Given the description of an element on the screen output the (x, y) to click on. 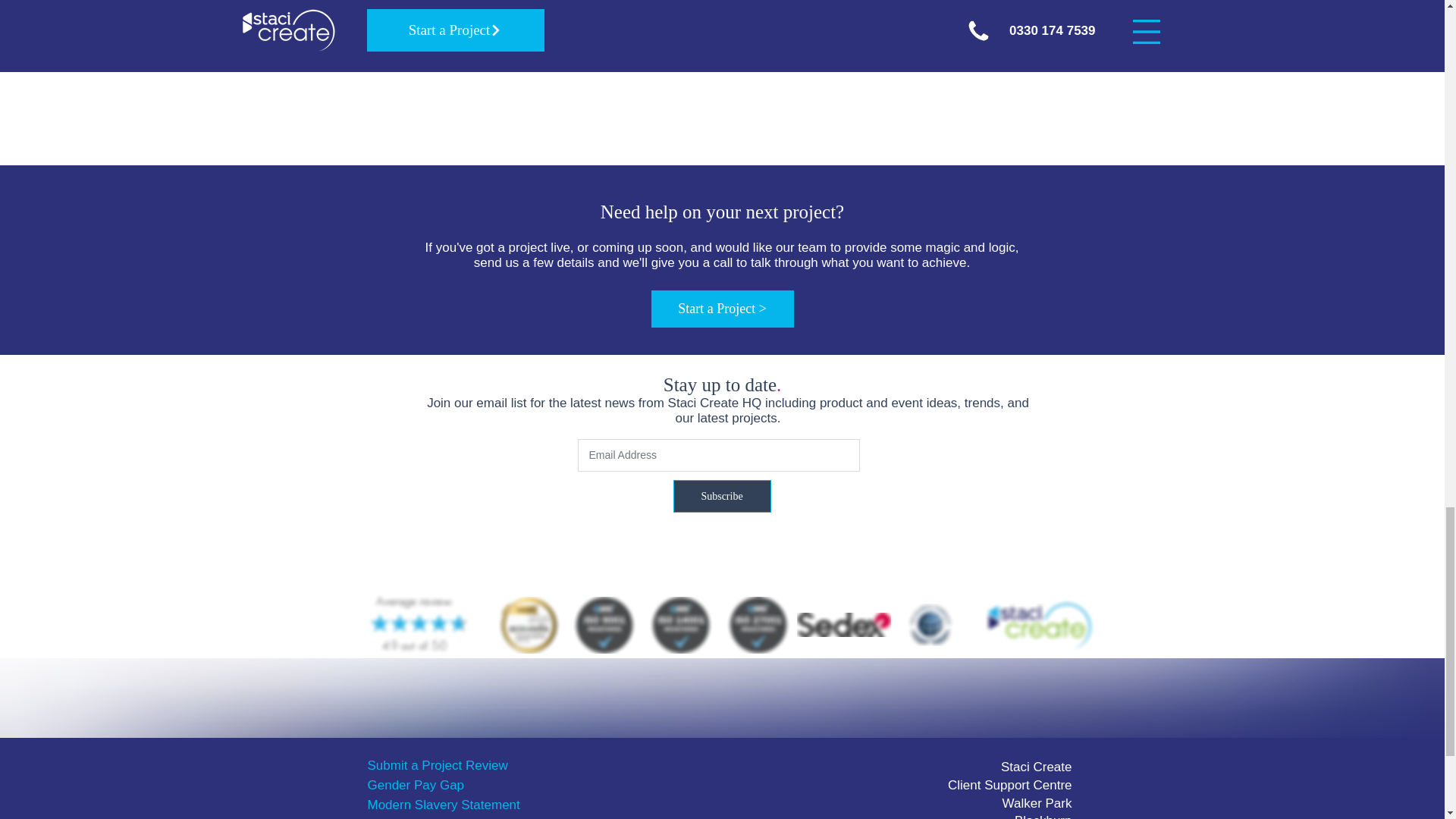
View Project (976, 20)
View Project (467, 20)
Subscribe (721, 495)
View Project (722, 20)
Gender Pay Gap (415, 785)
Submit a Project Review (436, 765)
Terms and Conditions (429, 818)
Modern Slavery Statement (442, 804)
